Given the description of an element on the screen output the (x, y) to click on. 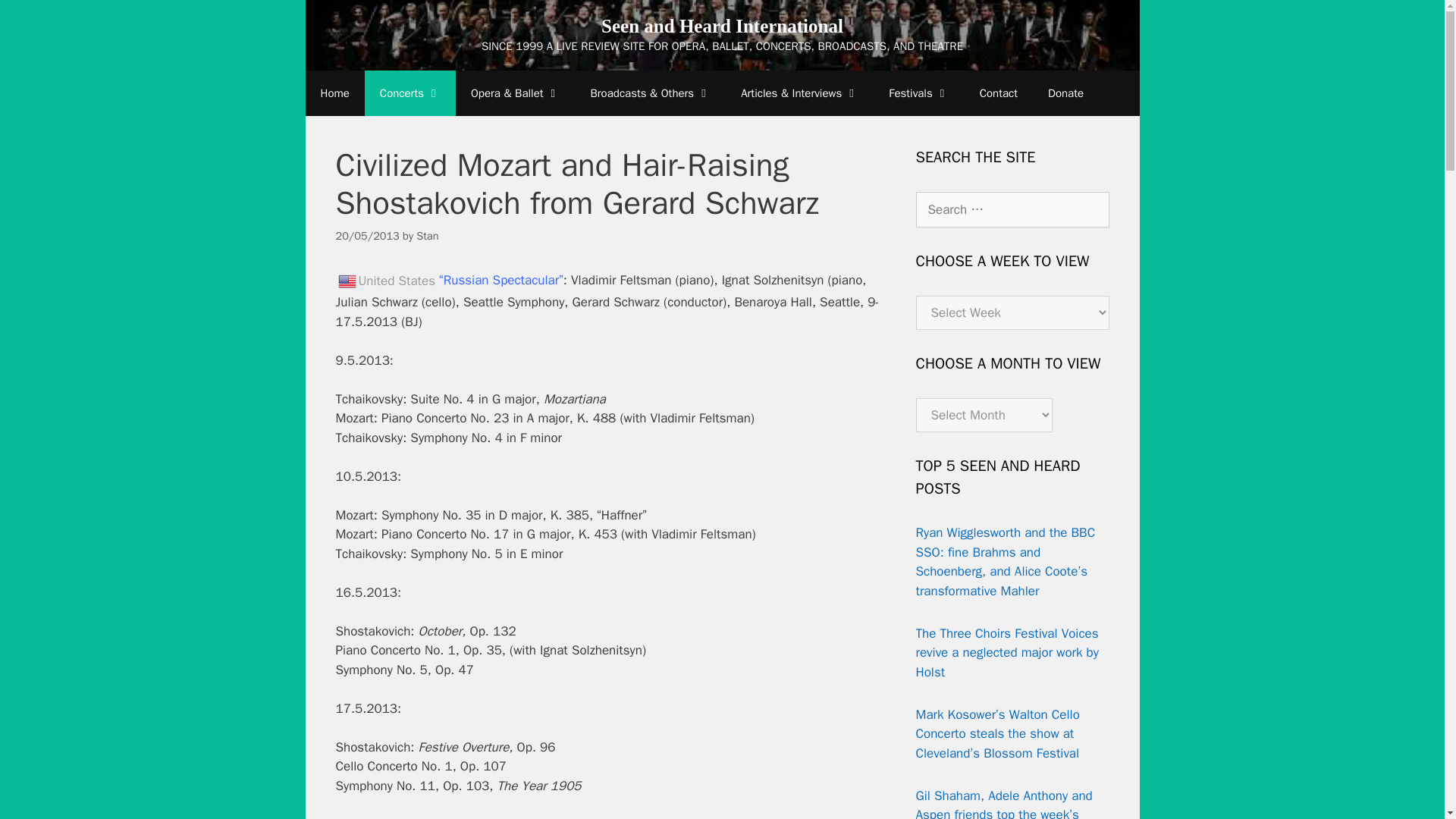
United States (346, 281)
Season Previews (799, 92)
View all posts by Stan (427, 235)
Seen and Heard International (722, 25)
Search for: (1012, 208)
